Given the description of an element on the screen output the (x, y) to click on. 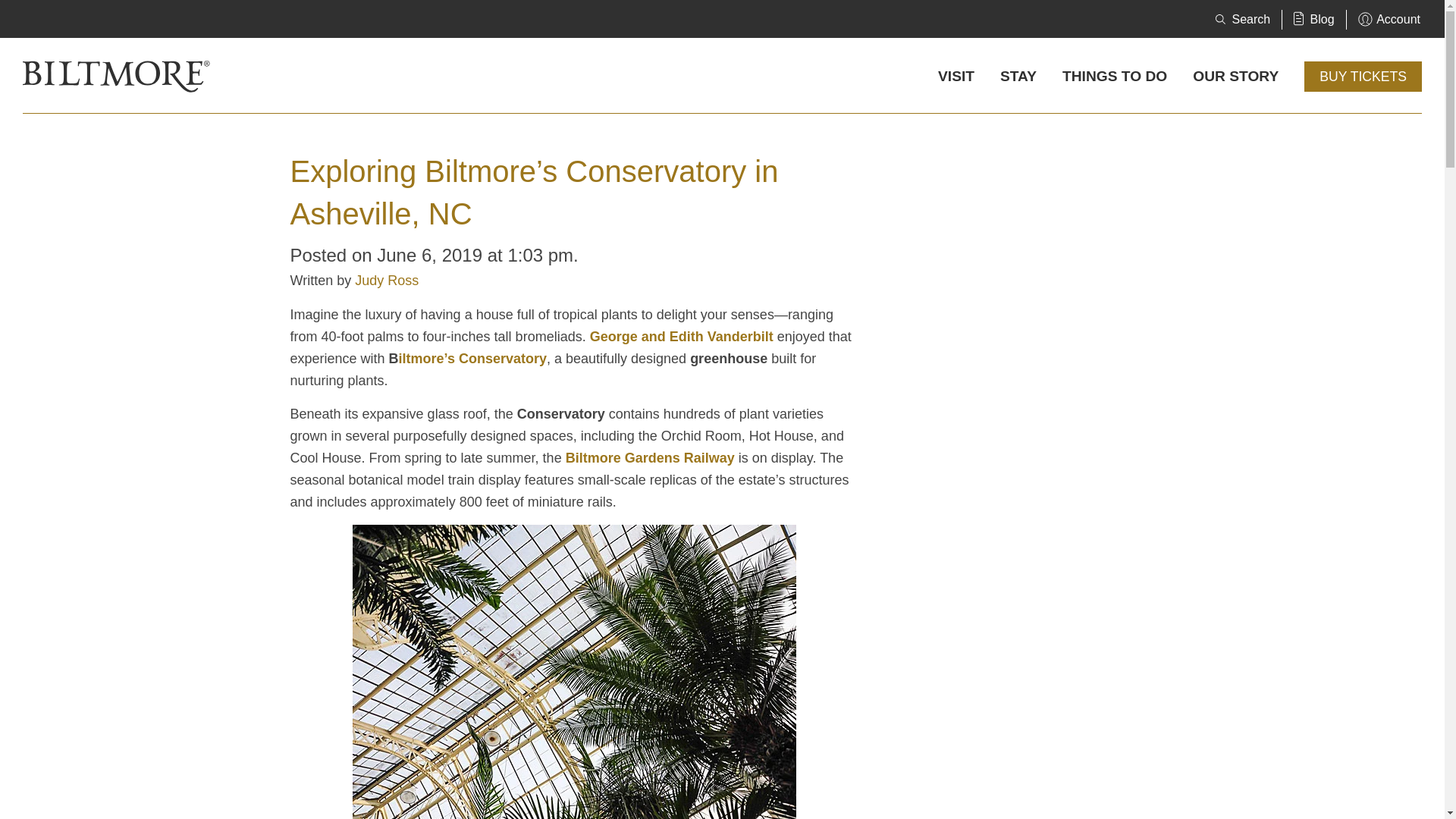
Search (1242, 19)
THINGS TO DO (1114, 75)
VISIT (955, 75)
OUR STORY (1235, 75)
STAY (1018, 75)
Account (1389, 19)
Blog (1313, 19)
